Given the description of an element on the screen output the (x, y) to click on. 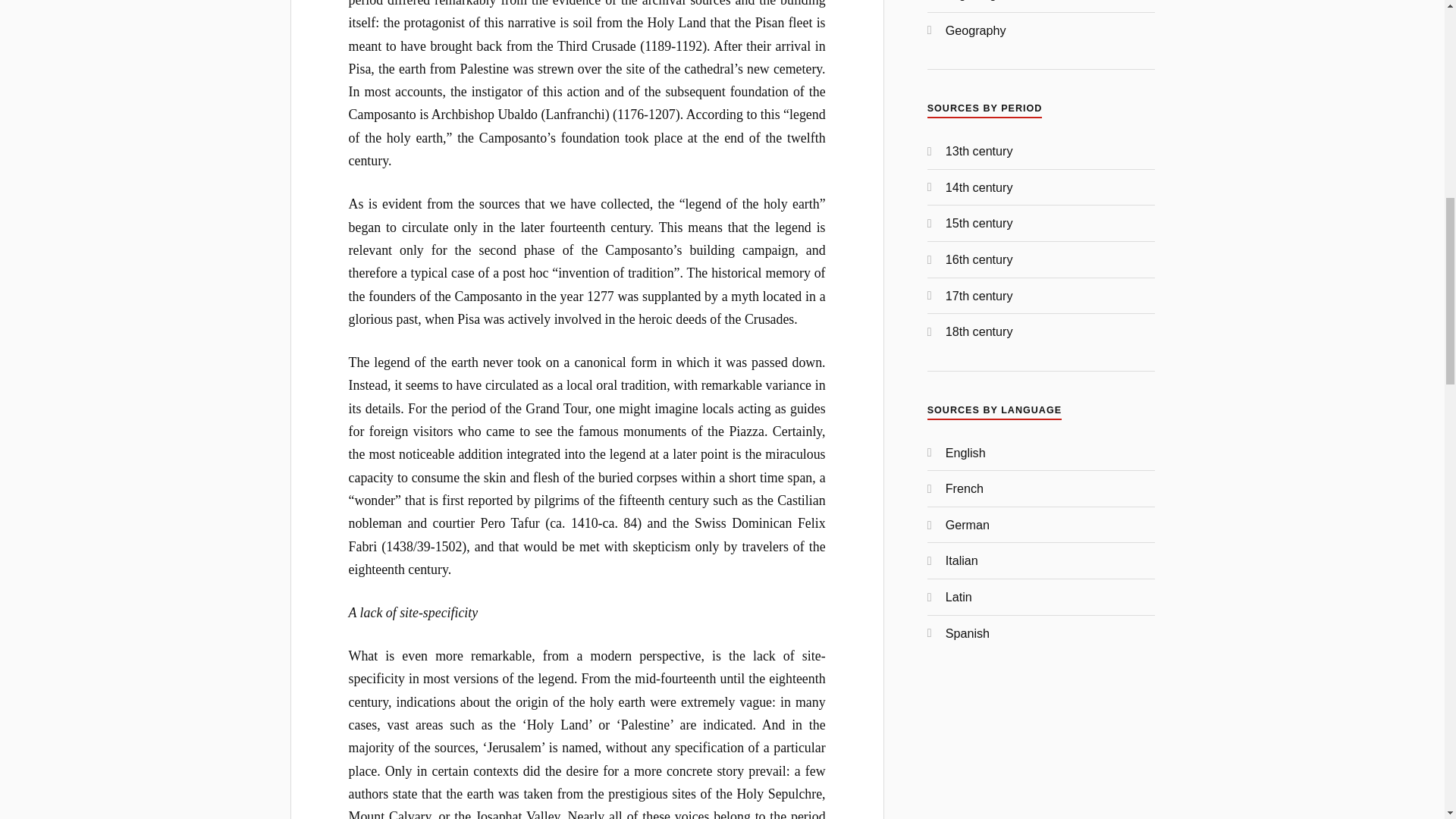
13th century (978, 151)
Geography (975, 29)
14th century (978, 187)
15th century (978, 223)
